Given the description of an element on the screen output the (x, y) to click on. 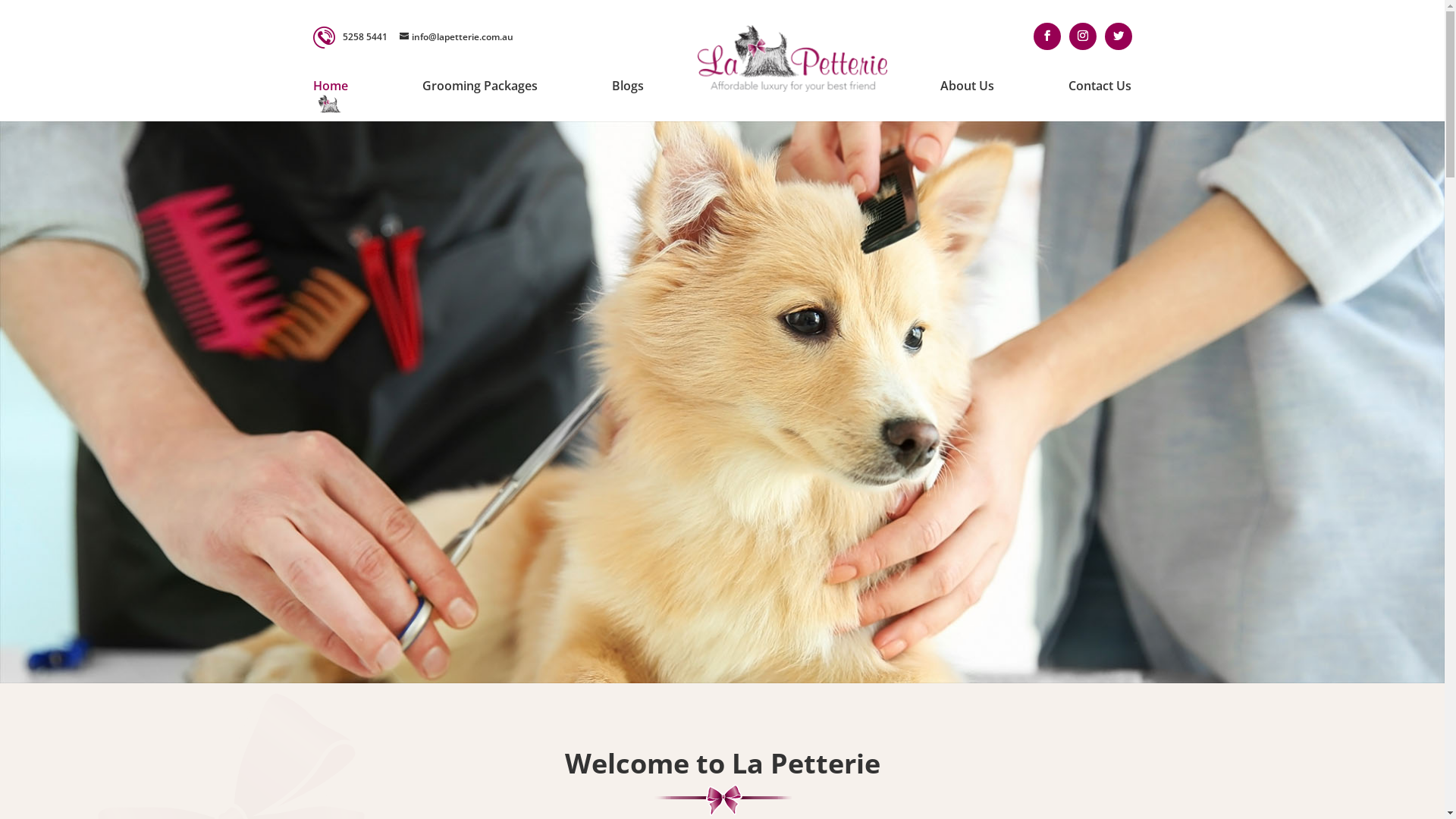
About Us Element type: text (967, 85)
Grooming Packages Element type: text (479, 85)
info@lapetterie.com.au Element type: text (455, 36)
Home Element type: text (329, 85)
Contact Us Element type: text (1099, 85)
Dog being Groomed Element type: hover (722, 402)
Blogs Element type: text (627, 85)
